Given the description of an element on the screen output the (x, y) to click on. 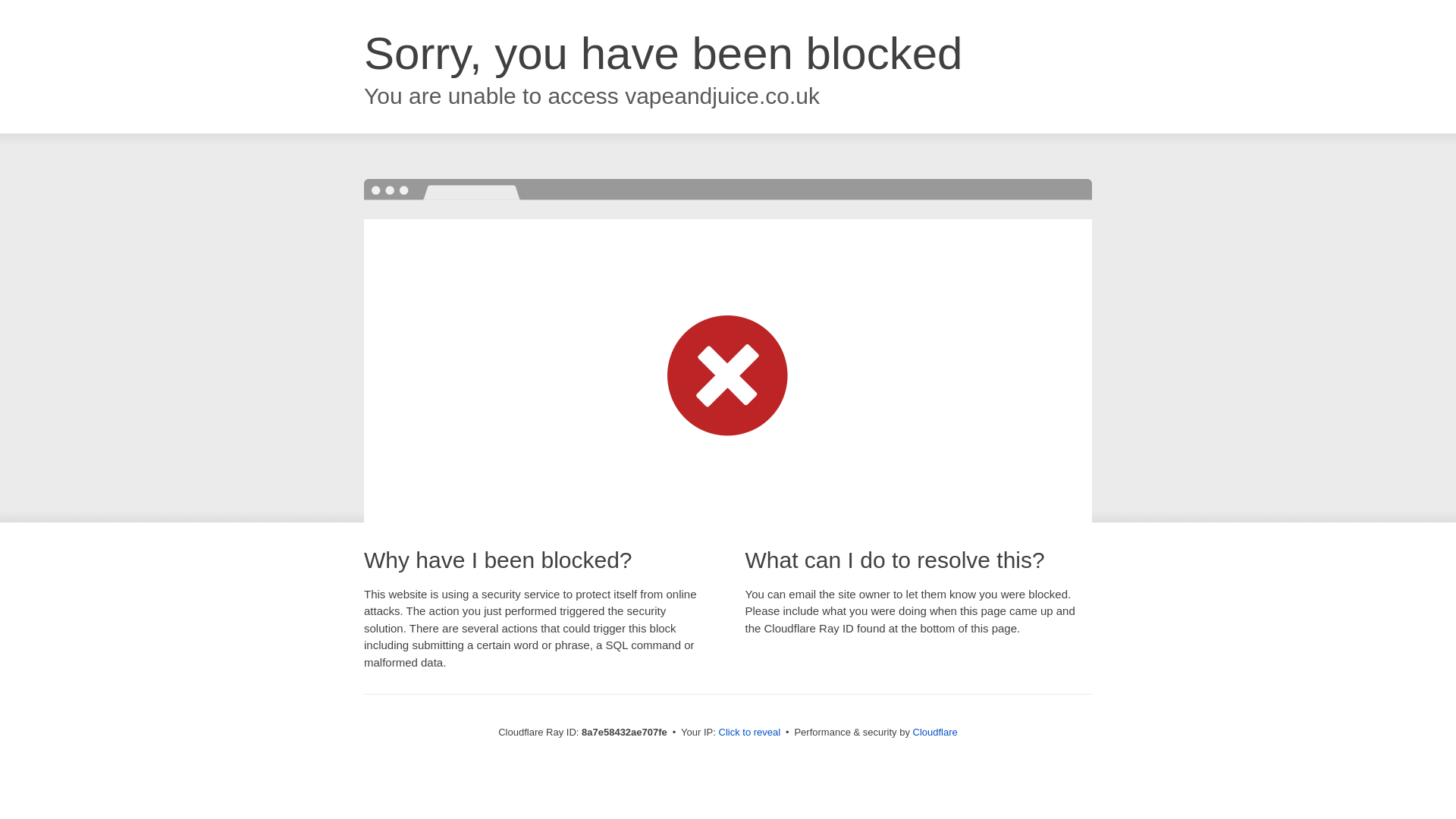
Click to reveal (749, 732)
Cloudflare (935, 731)
